Given the description of an element on the screen output the (x, y) to click on. 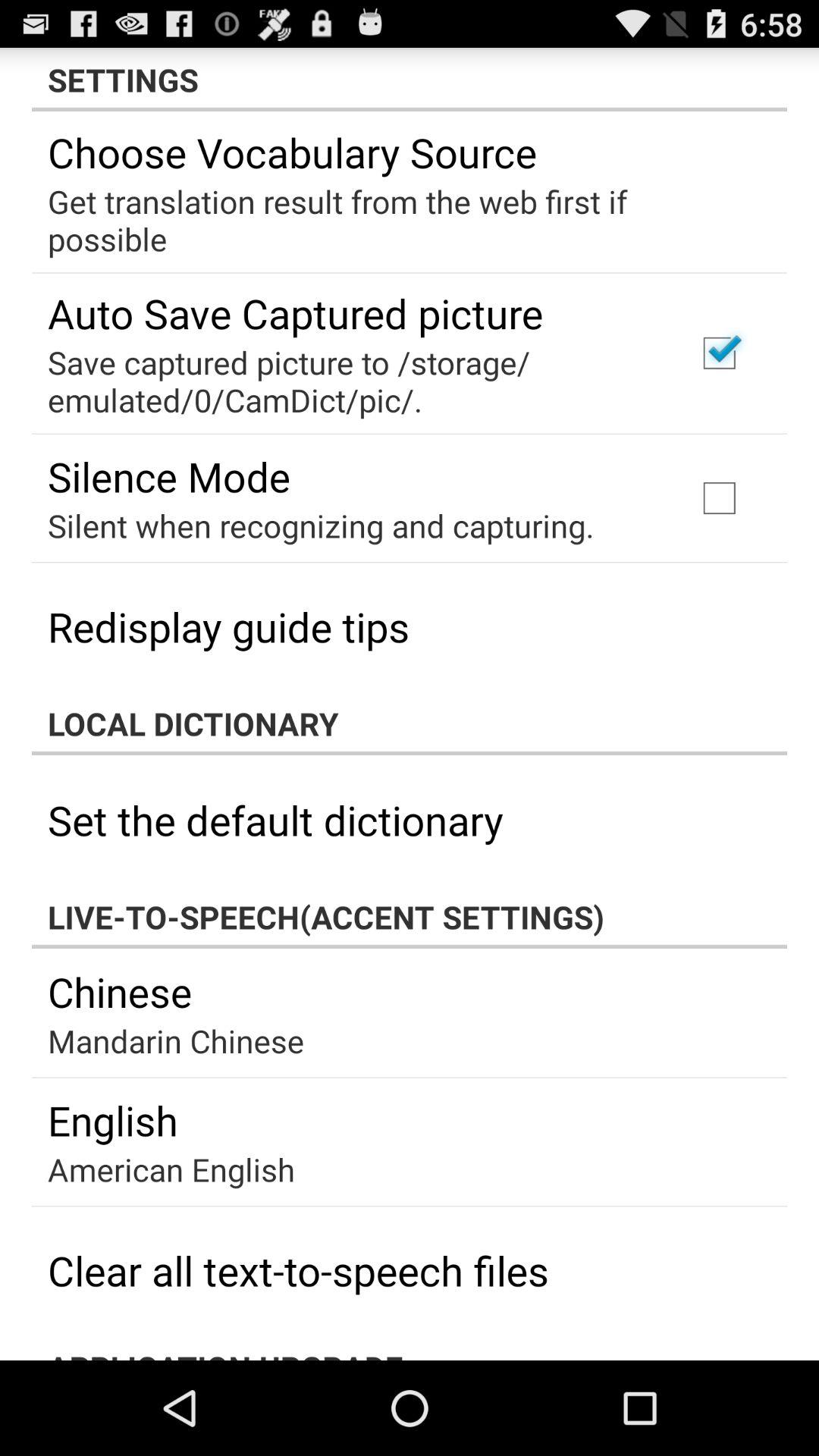
turn off set the default app (275, 819)
